Given the description of an element on the screen output the (x, y) to click on. 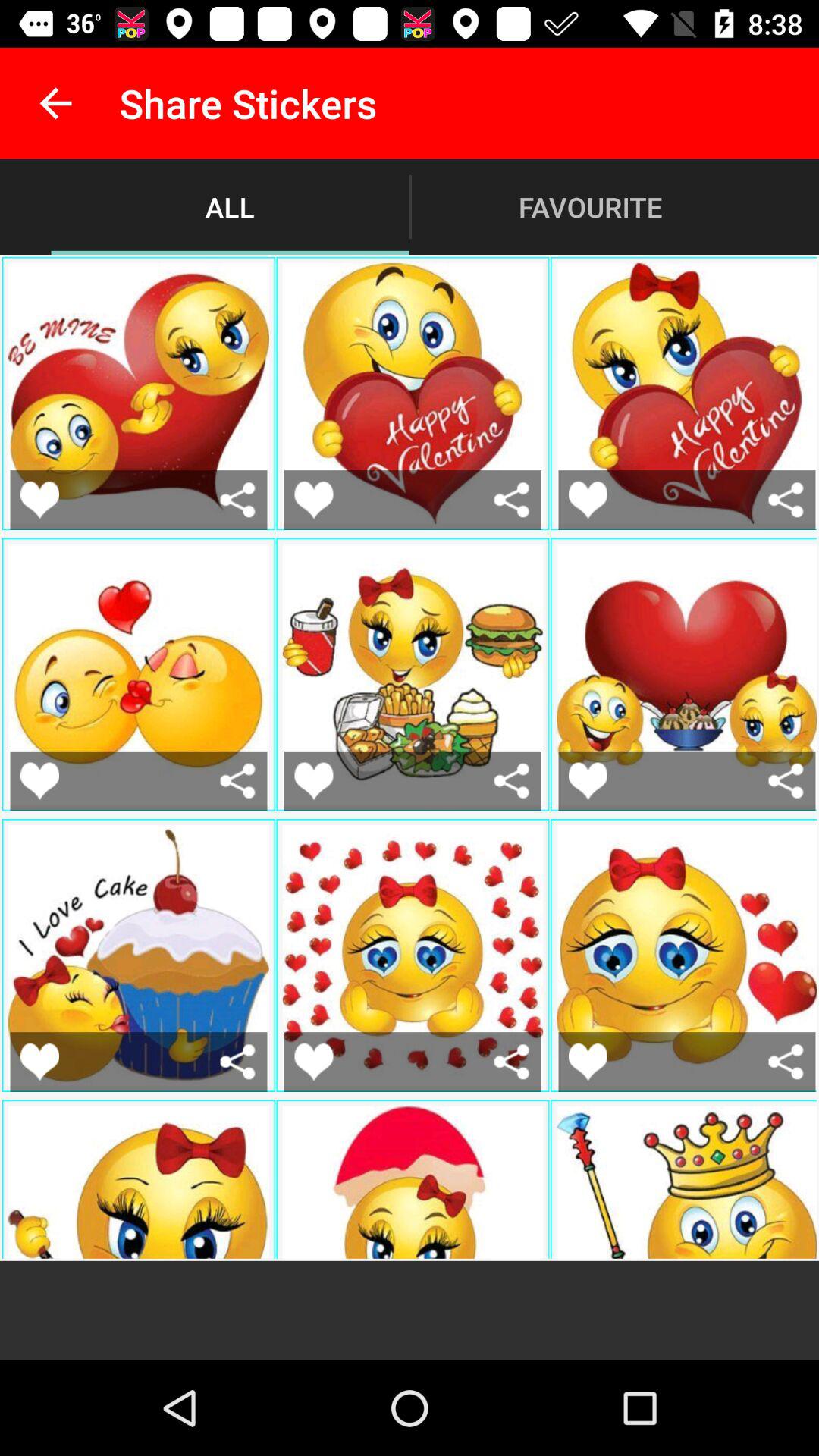
share content (785, 1061)
